Given the description of an element on the screen output the (x, y) to click on. 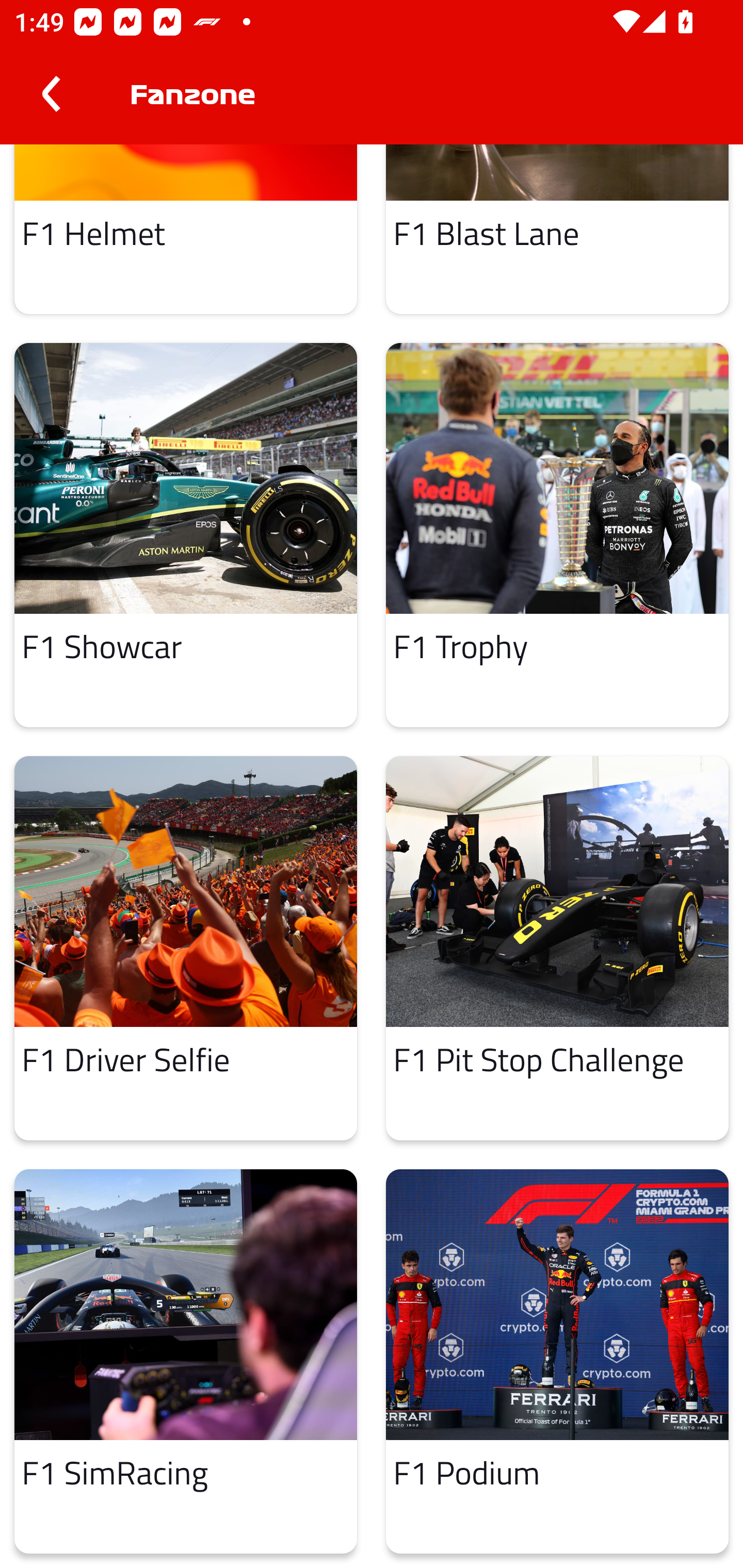
Navigate up (50, 93)
F1 Helmet (185, 228)
F1 Blast Lane (556, 228)
F1 Showcar (185, 535)
F1 Trophy (556, 535)
F1 Driver Selfie (185, 947)
F1 Pit Stop Challenge (556, 947)
F1 SimRacing (185, 1361)
F1 Podium (556, 1361)
